Given the description of an element on the screen output the (x, y) to click on. 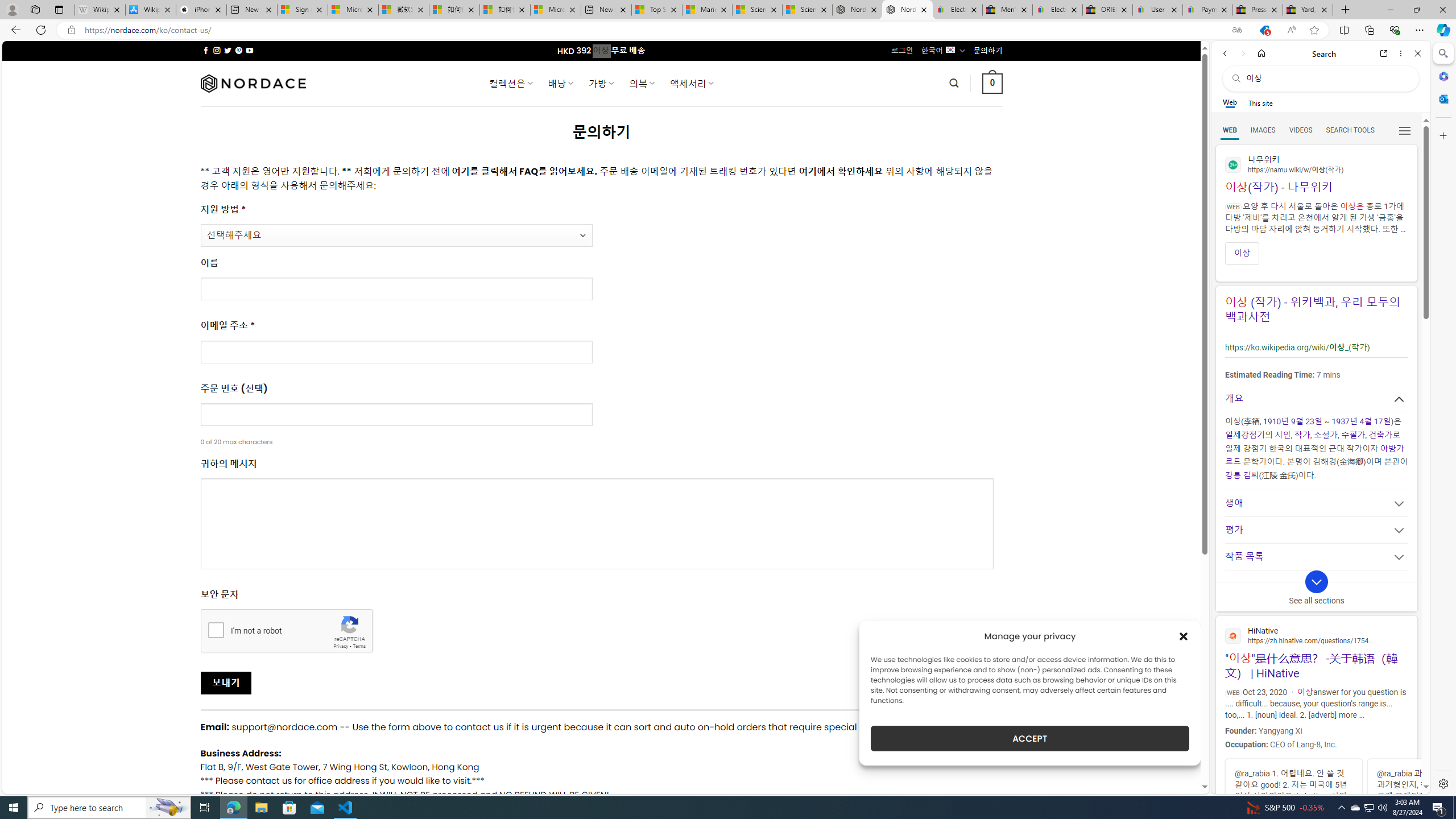
Payments Terms of Use | eBay.com (1207, 9)
Follow on Instagram (216, 50)
Marine life - MSN (706, 9)
Search Filter, Search Tools (1350, 129)
Preferences (1403, 129)
